Given the description of an element on the screen output the (x, y) to click on. 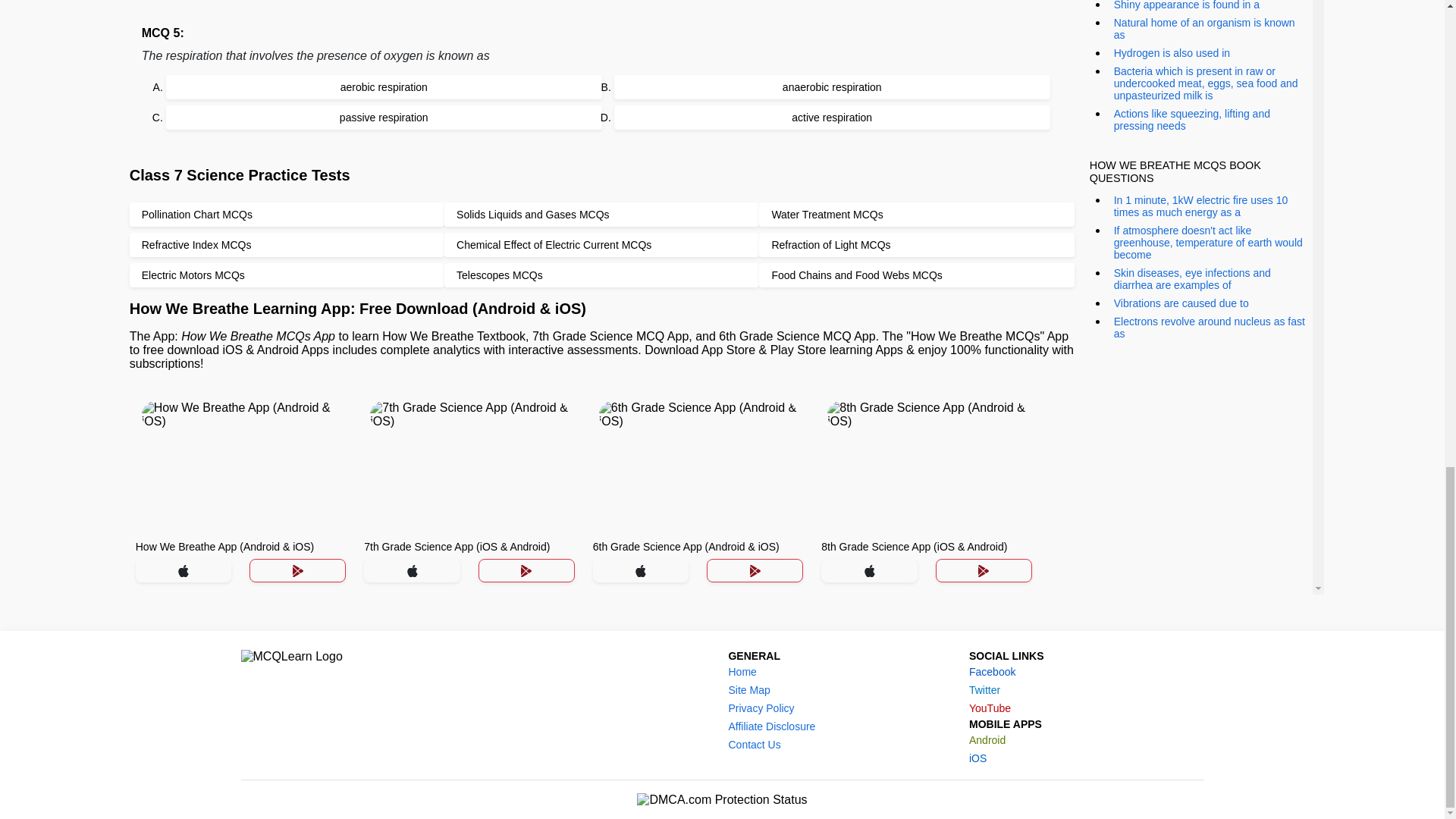
DMCA.com Protection Status (721, 799)
